Given the description of an element on the screen output the (x, y) to click on. 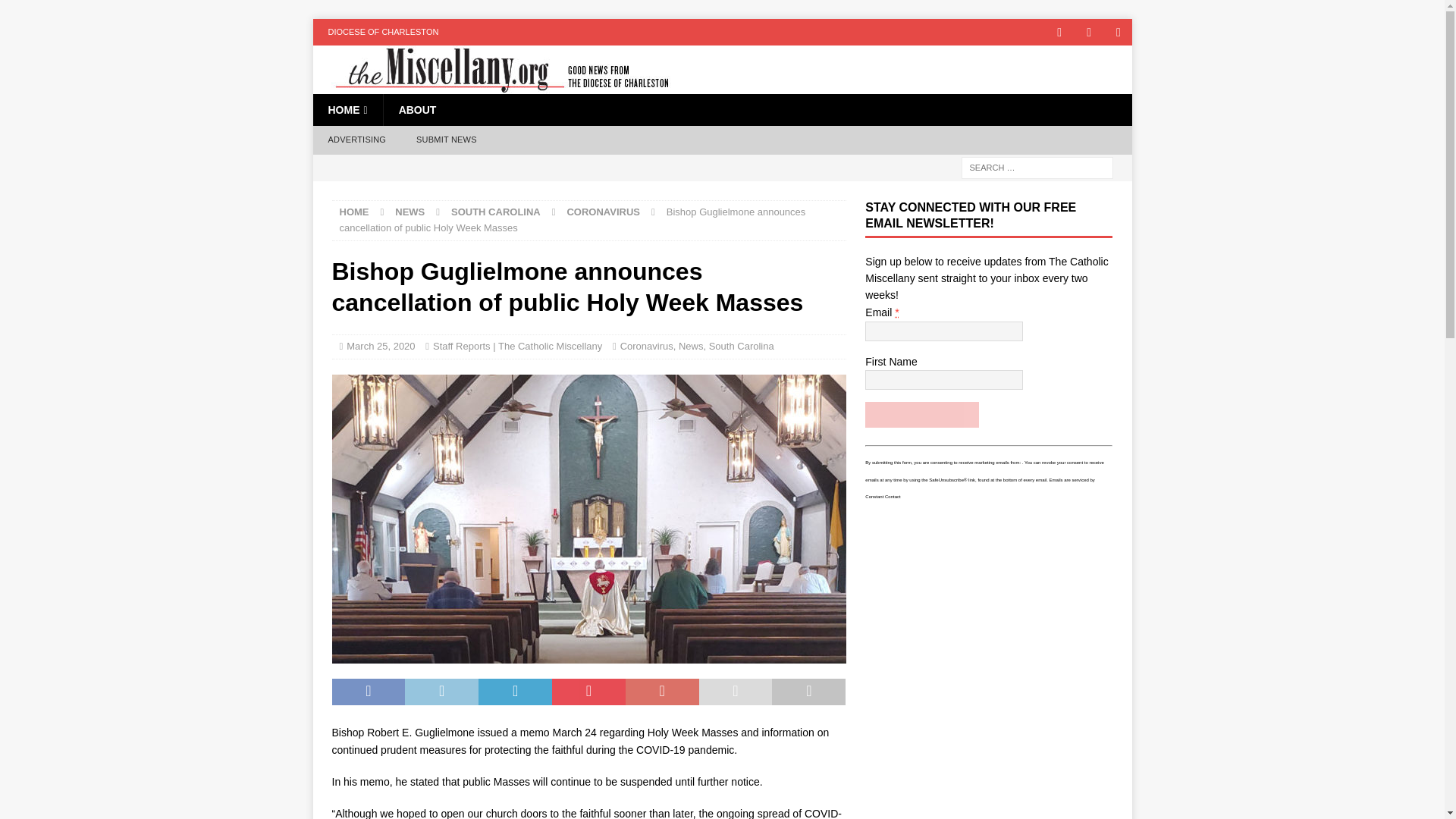
News (690, 346)
NEWS (409, 211)
SUBMIT NEWS (446, 140)
HOME (354, 211)
ABOUT (416, 110)
SOUTH CAROLINA (495, 211)
Coronavirus (646, 346)
Search (56, 11)
ADVERTISING (357, 140)
South Carolina (741, 346)
